Given the description of an element on the screen output the (x, y) to click on. 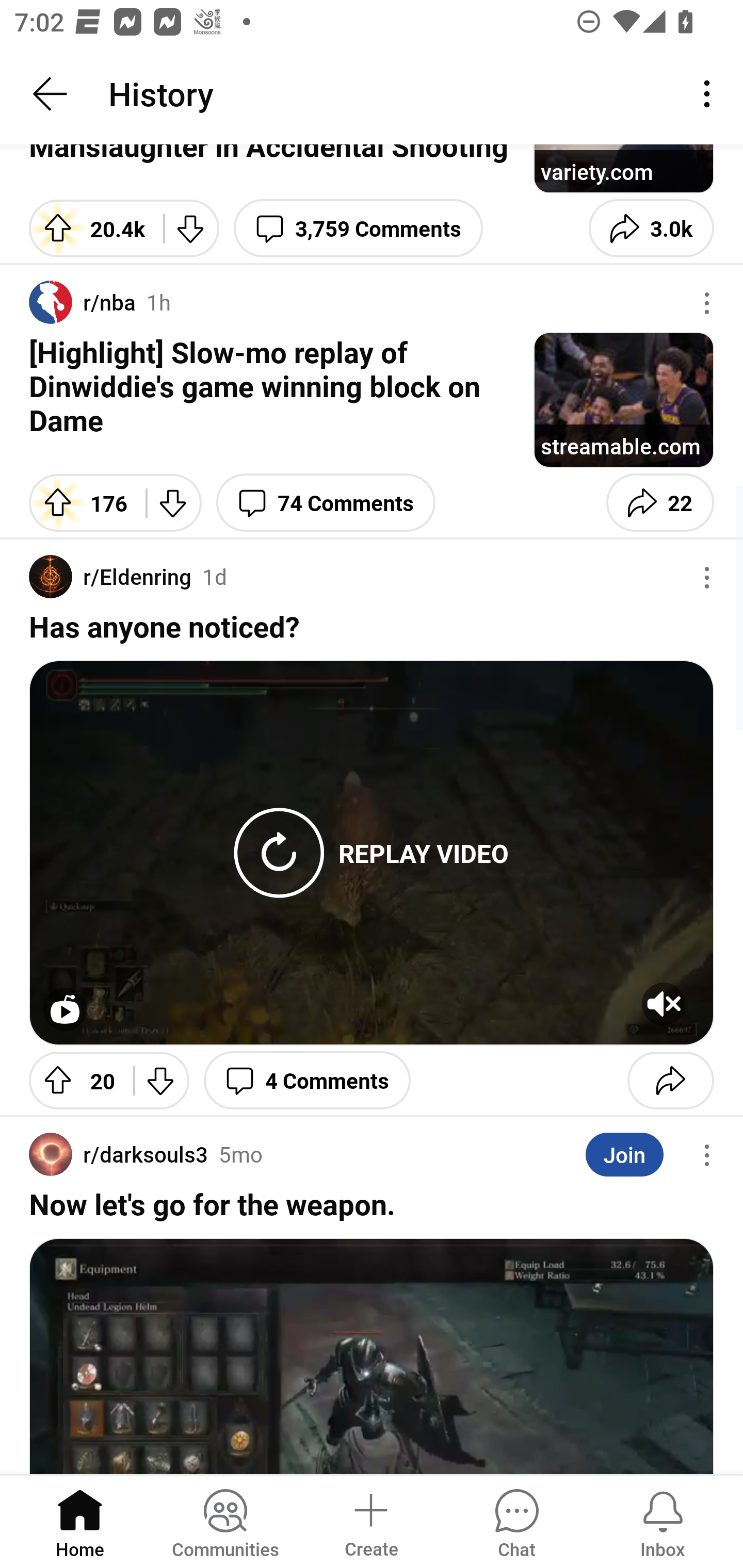
More options (710, 93)
Upvote 20.4k (88, 227)
Downvote (191, 227)
3,759 Comments (358, 227)
Share 3.0k (651, 227)
Avatar r/nba (81, 302)
Overflow menu (706, 303)
Thumbnail image streamable.com (623, 399)
Upvote 176 (79, 502)
Downvote (173, 502)
74 Comments (325, 502)
Share 22 (660, 502)
Avatar r/Eldenring (109, 576)
Overflow menu (706, 577)
Replay Video REPLAY VIDEO Unmute (371, 852)
Replay Video (278, 852)
REPLAY VIDEO (423, 852)
Unmute (663, 1003)
Full screen video (64, 1009)
Upvote 20 (73, 1079)
Downvote (160, 1079)
4 Comments (306, 1079)
Share (670, 1079)
Avatar r/darksouls3 (118, 1153)
Join (624, 1154)
Overflow menu (706, 1154)
Home (80, 1520)
Communities (225, 1520)
Create a post Create (370, 1520)
Chat (516, 1520)
Inbox (662, 1520)
